Given the description of an element on the screen output the (x, y) to click on. 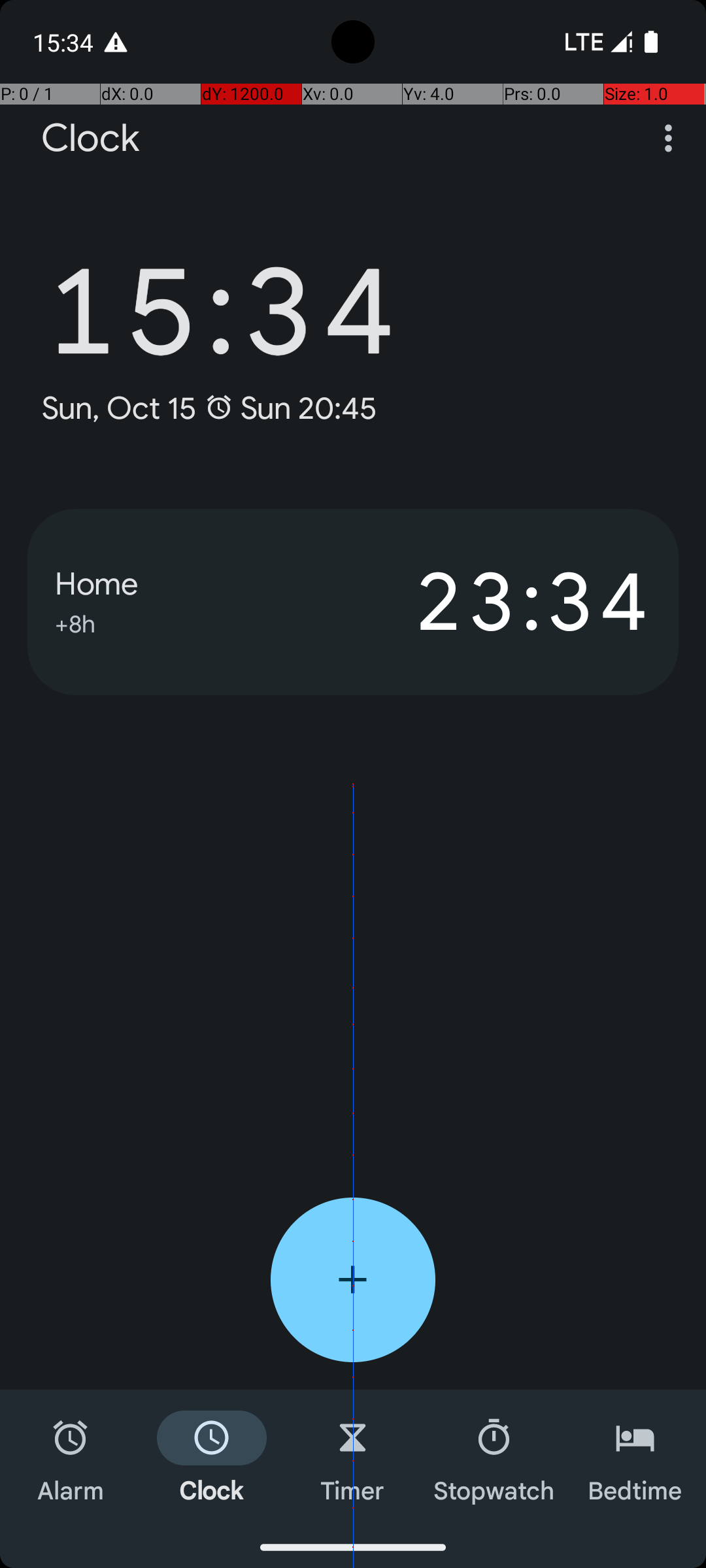
Add city Element type: android.widget.Button (352, 1279)
Sun, Oct 15 A Sun 20:45 Element type: android.widget.TextView (208, 407)
+8h Element type: android.widget.TextView (74, 621)
23:34 Element type: android.widget.TextView (502, 601)
